Given the description of an element on the screen output the (x, y) to click on. 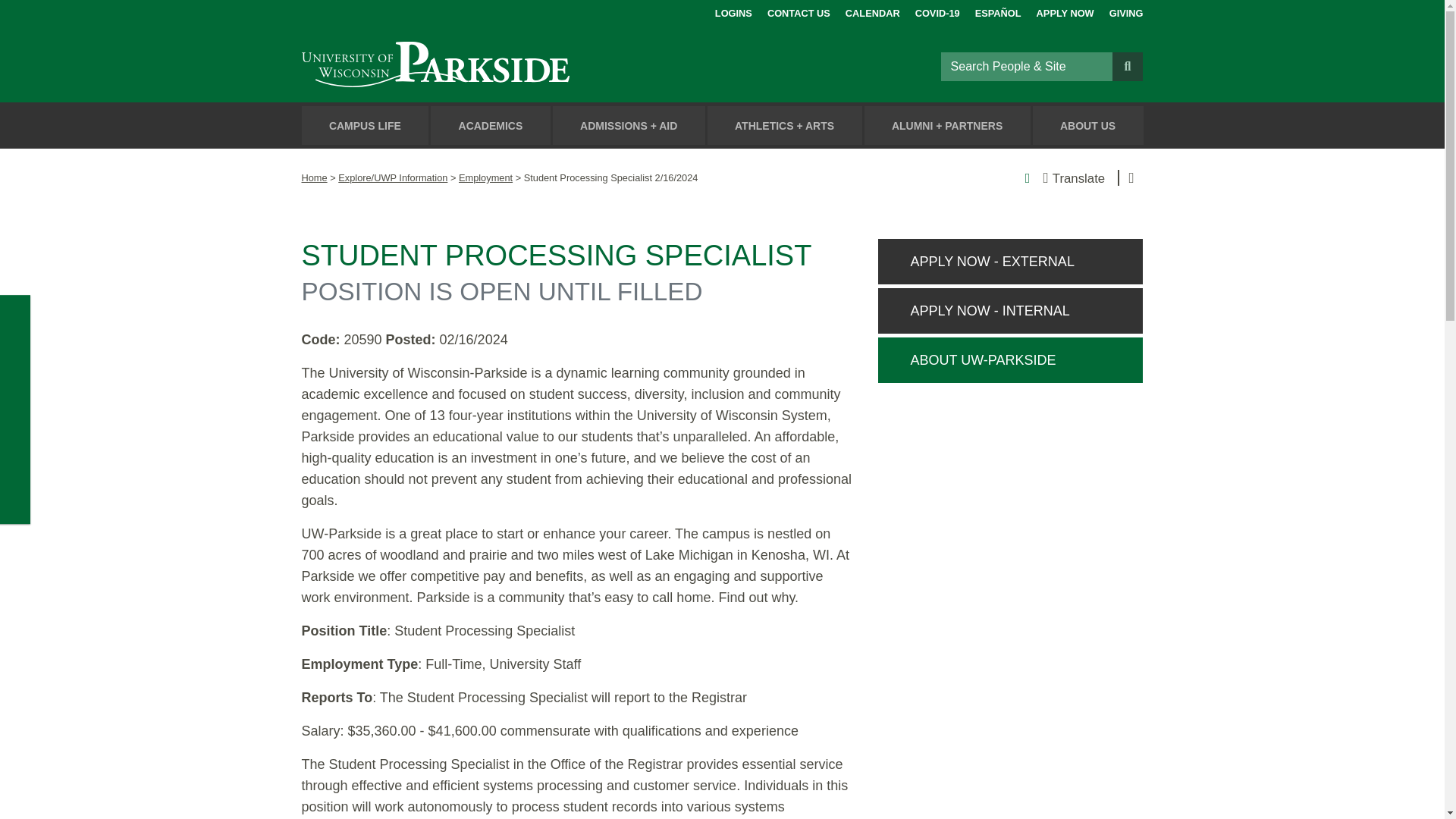
CONTACT US (798, 11)
LOGINS (733, 11)
Skip to main content (18, 14)
APPLY NOW (1065, 11)
GIVING (1125, 11)
Submit (1127, 65)
COVID-19 (937, 11)
CALENDAR (872, 11)
University of Wisconsin-Parkside (470, 66)
University of Wisconsin-Parkside (470, 66)
